Given the description of an element on the screen output the (x, y) to click on. 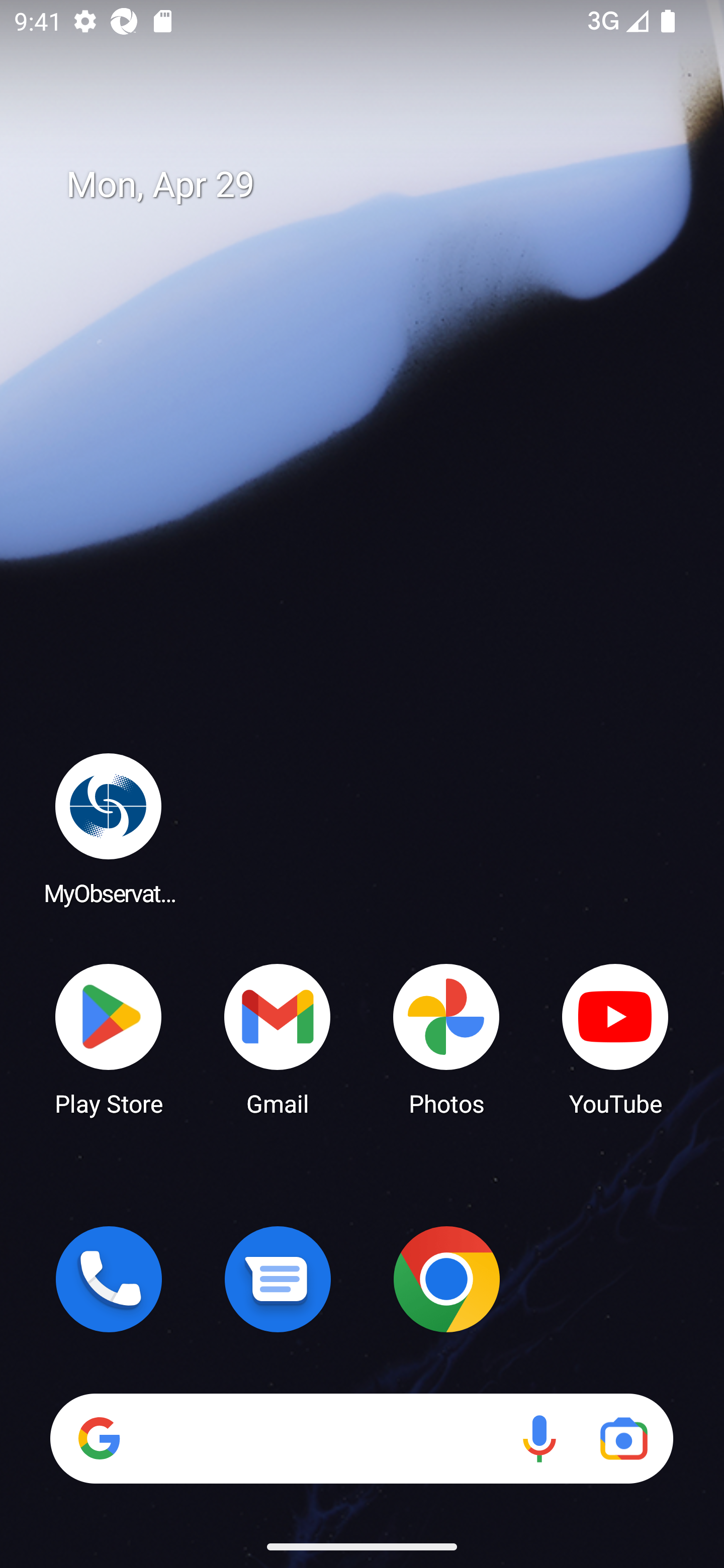
Mon, Apr 29 (375, 184)
MyObservatory (108, 828)
Play Store (108, 1038)
Gmail (277, 1038)
Photos (445, 1038)
YouTube (615, 1038)
Phone (108, 1279)
Messages (277, 1279)
Chrome (446, 1279)
Voice search (539, 1438)
Google Lens (623, 1438)
